Given the description of an element on the screen output the (x, y) to click on. 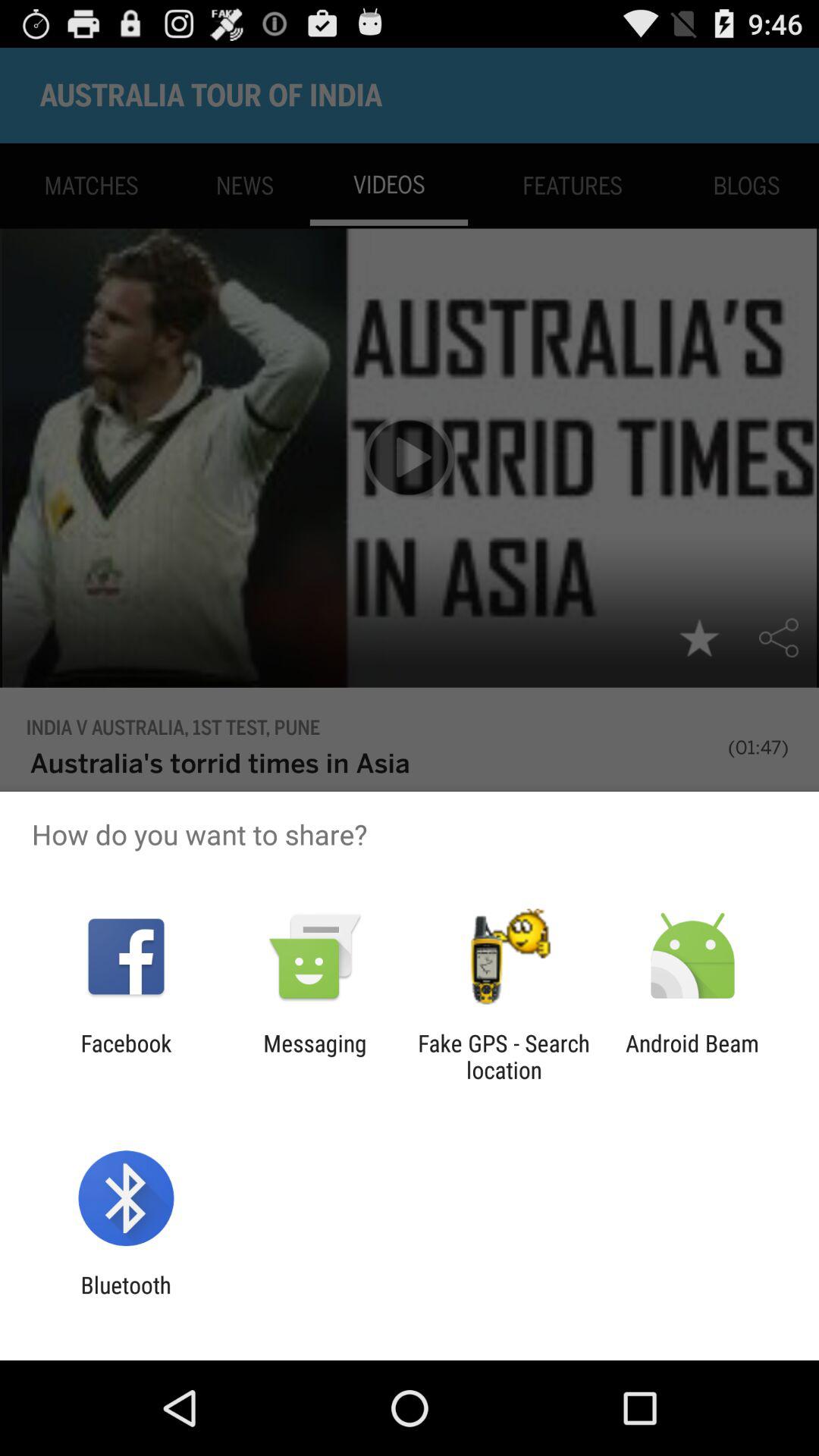
click app at the bottom right corner (692, 1056)
